Given the description of an element on the screen output the (x, y) to click on. 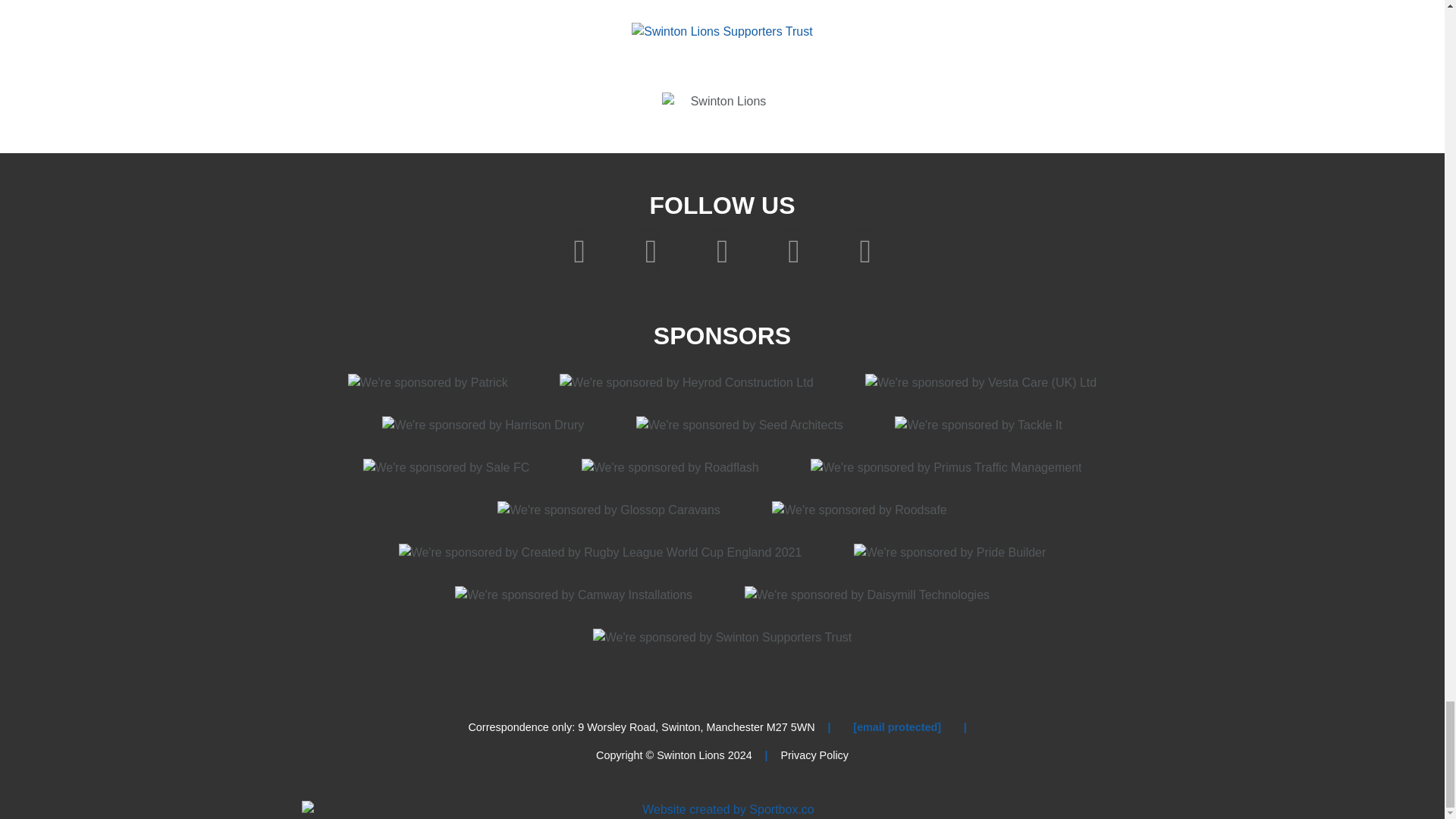
Like on Facebook (582, 248)
Like on Instagram (725, 248)
Follow on Twitter (654, 248)
Like on YouTube (796, 248)
Connect on LinkedIn (864, 248)
